Given the description of an element on the screen output the (x, y) to click on. 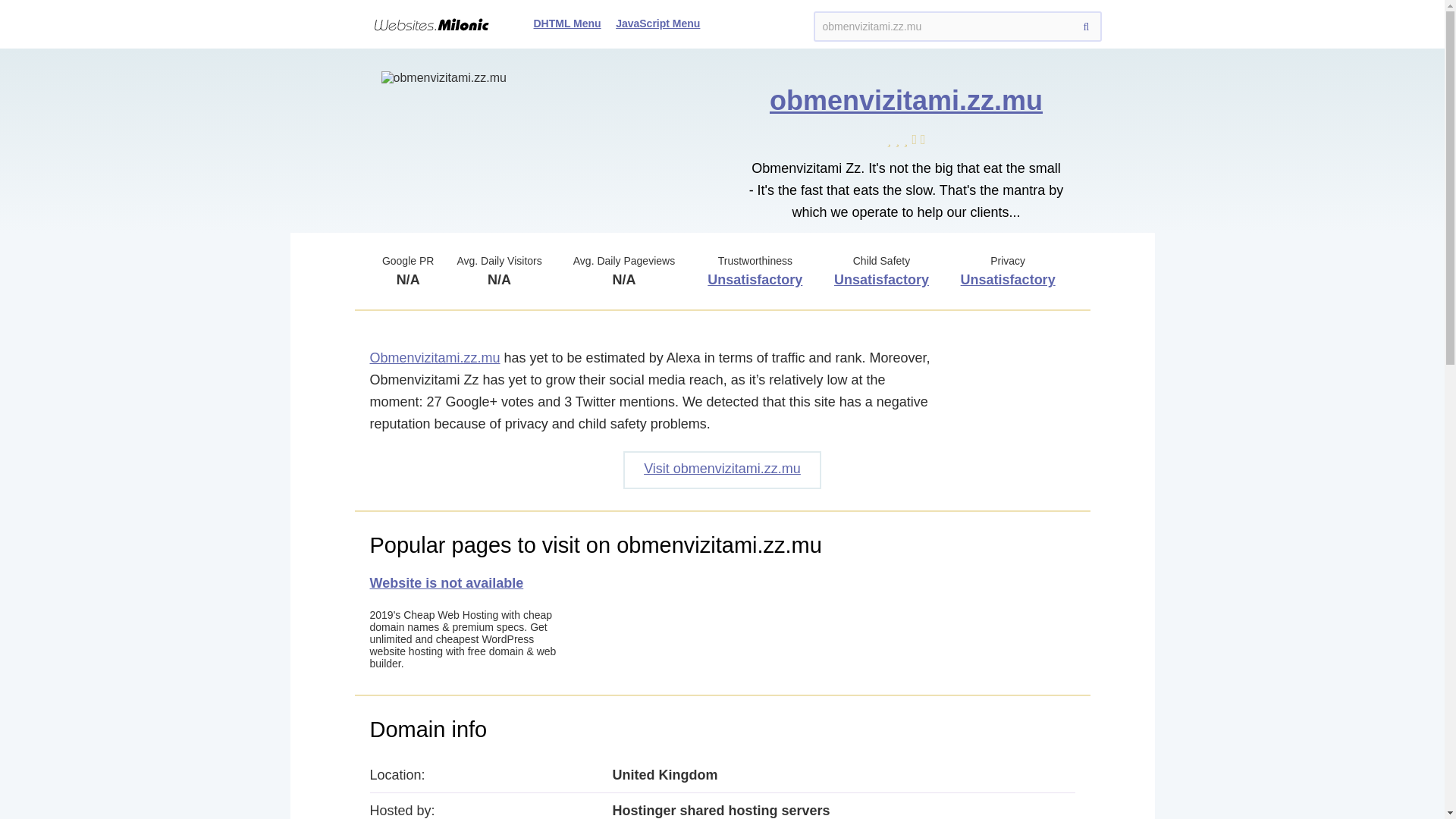
Obmenvizitami.zz.mu (434, 357)
obmenvizitami.zz.mu (906, 100)
Unsatisfactory (1007, 279)
DHTML Menu (567, 23)
Visit obmenvizitami.zz.mu (722, 469)
JavaScript Menu (657, 23)
Unsatisfactory (754, 279)
Website is not available (446, 582)
Unsatisfactory (881, 279)
obmenvizitami.zz.mu (956, 26)
